Given the description of an element on the screen output the (x, y) to click on. 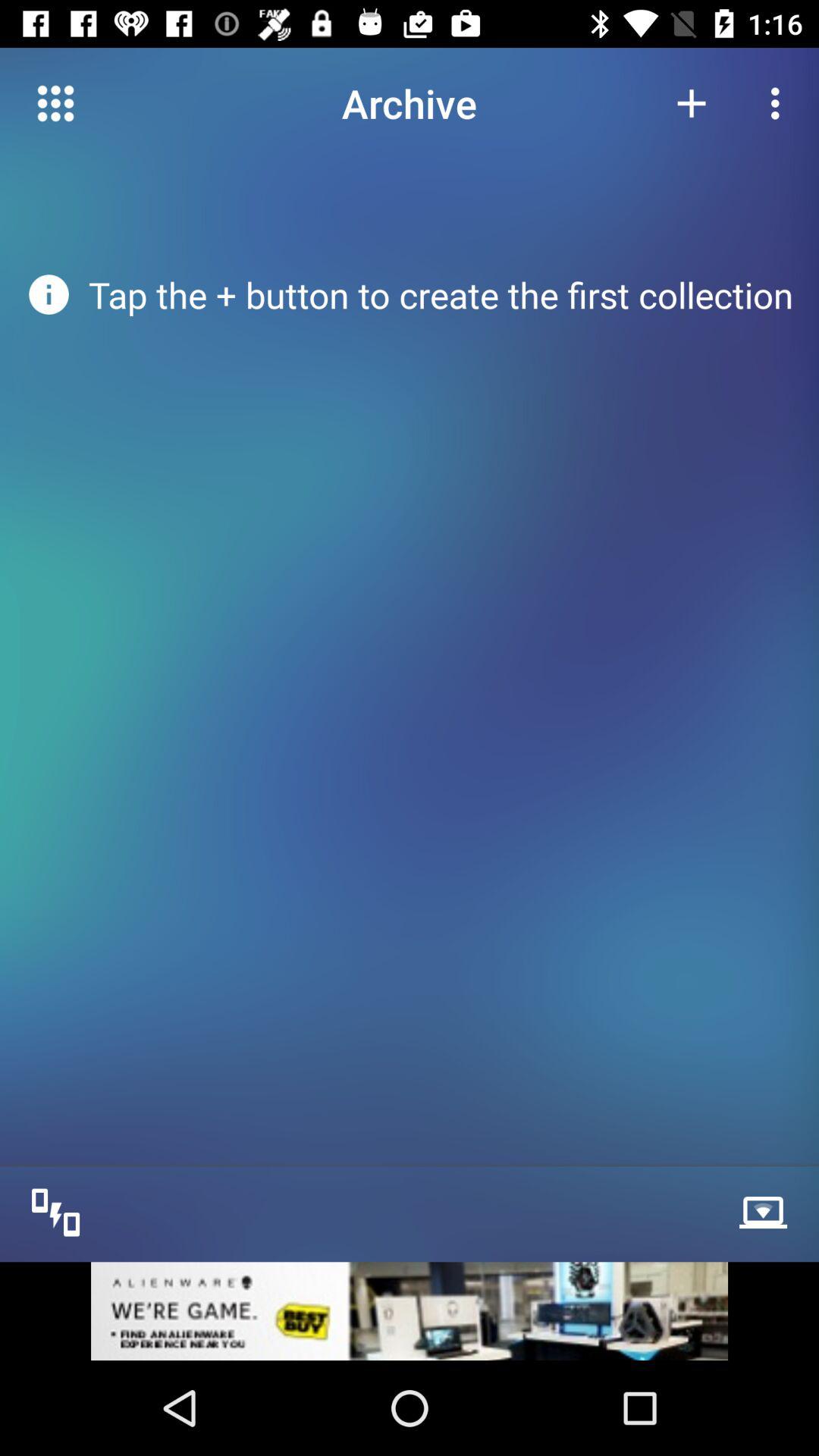
download (767, 1210)
